Given the description of an element on the screen output the (x, y) to click on. 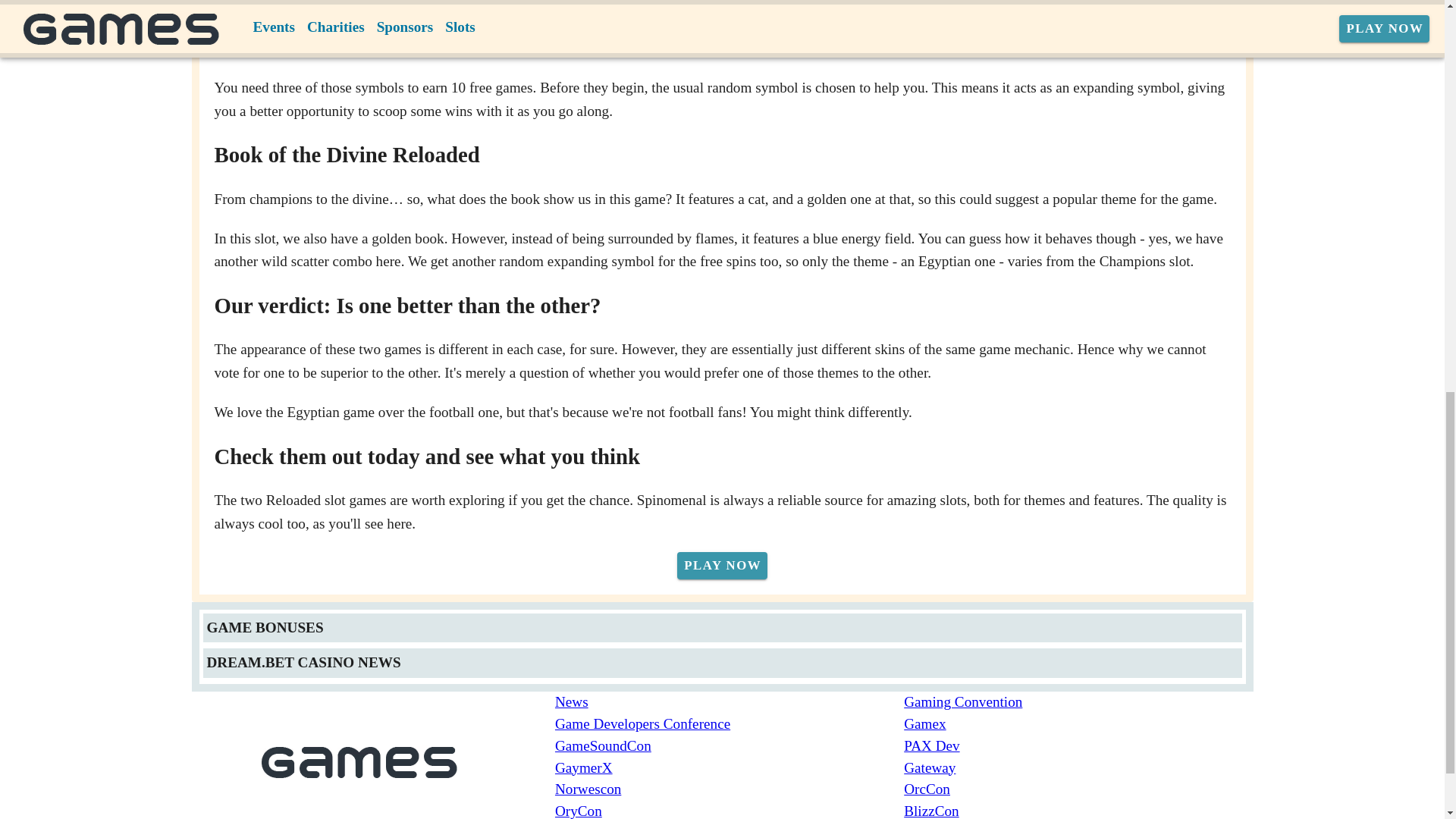
Gaming Convention (1078, 702)
PAX Dev (1078, 746)
PLAY NOW (722, 565)
GameSoundCon (729, 746)
News (729, 702)
OryCon (729, 809)
Gateway (1078, 768)
Norwescon (729, 789)
OrcCon (1078, 789)
BlizzCon (1078, 809)
Gamex (1078, 724)
GaymerX (729, 768)
Game Developers Conference (729, 724)
